Given the description of an element on the screen output the (x, y) to click on. 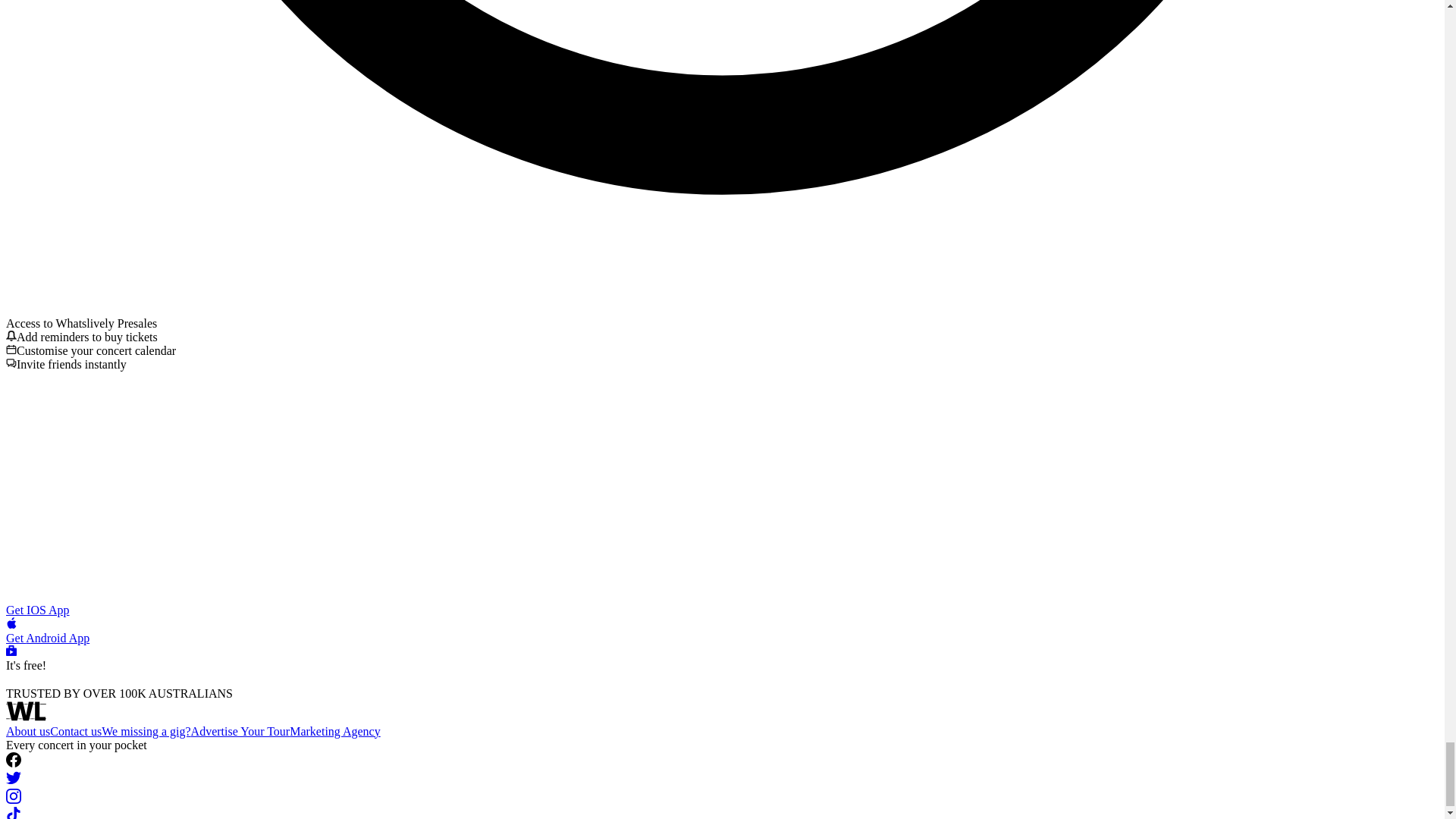
We missing a gig? (145, 730)
Advertise Your Tour (239, 730)
About us (27, 730)
Marketing Agency (334, 730)
Contact us (75, 730)
